Given the description of an element on the screen output the (x, y) to click on. 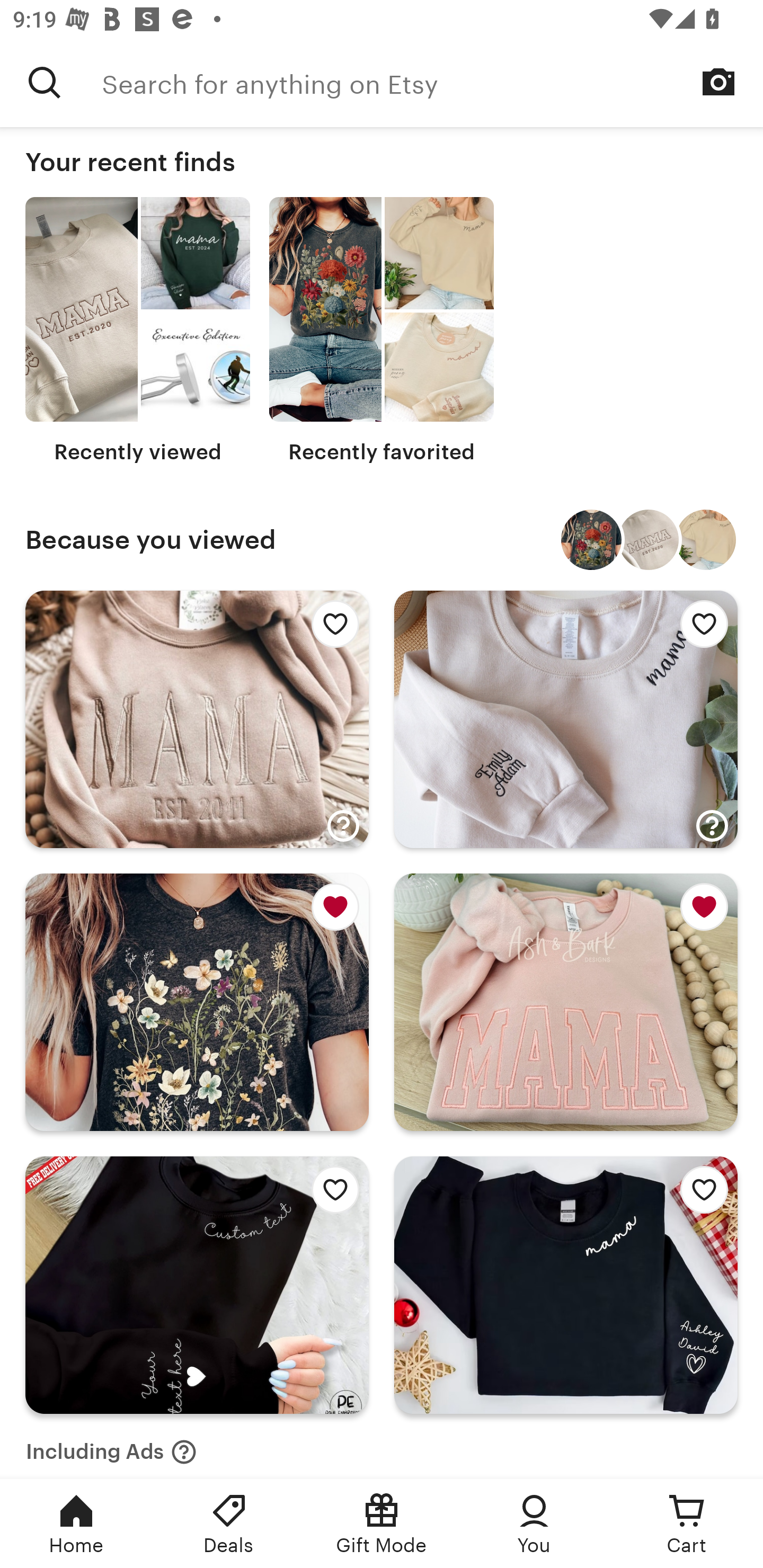
Search for anything on Etsy (44, 82)
Search by image (718, 81)
Search for anything on Etsy (432, 82)
Recently viewed (137, 330)
Recently favorited (381, 330)
Including Ads (111, 1446)
Deals (228, 1523)
Gift Mode (381, 1523)
You (533, 1523)
Cart (686, 1523)
